Given the description of an element on the screen output the (x, y) to click on. 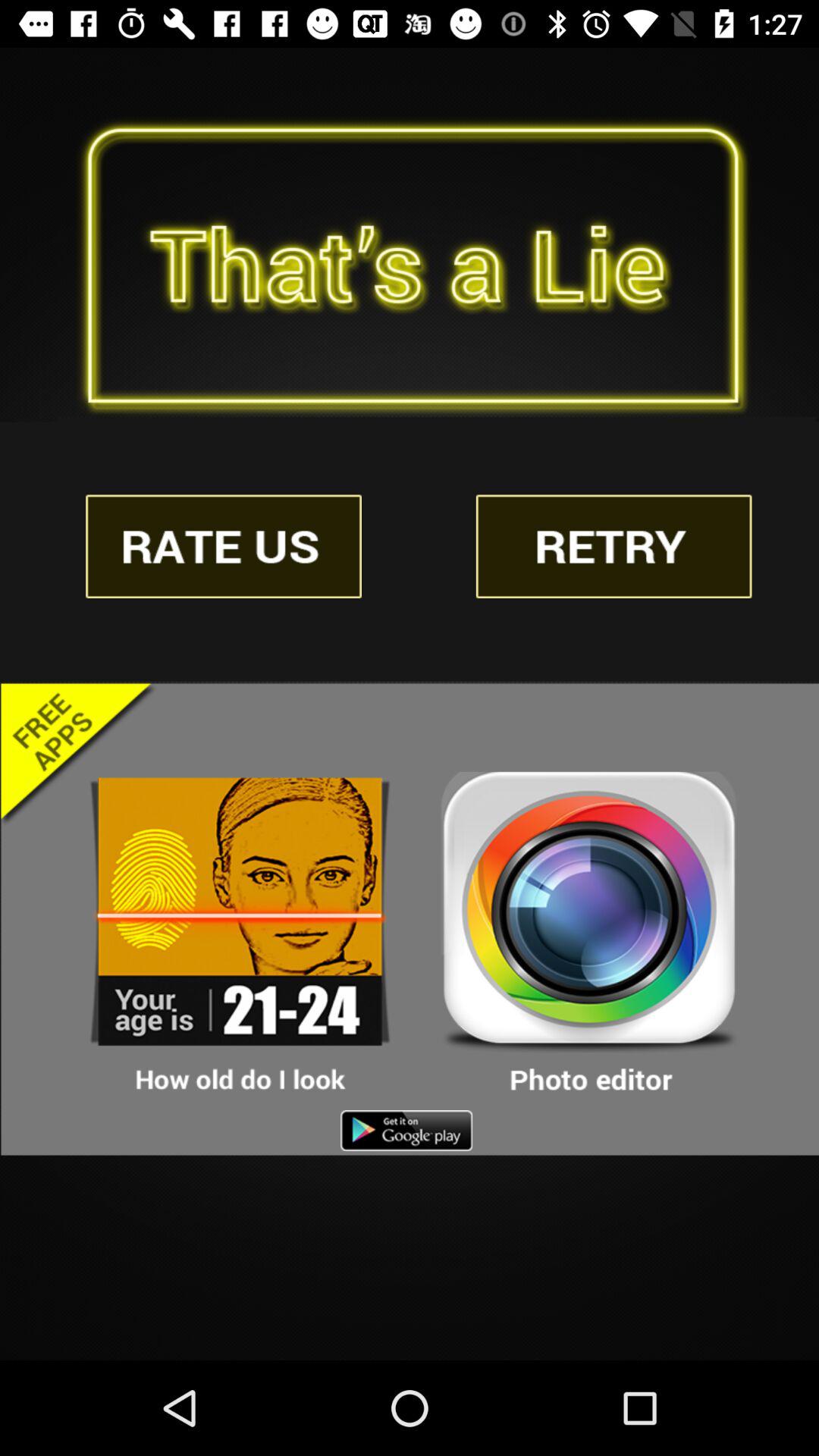
advertising (240, 933)
